Given the description of an element on the screen output the (x, y) to click on. 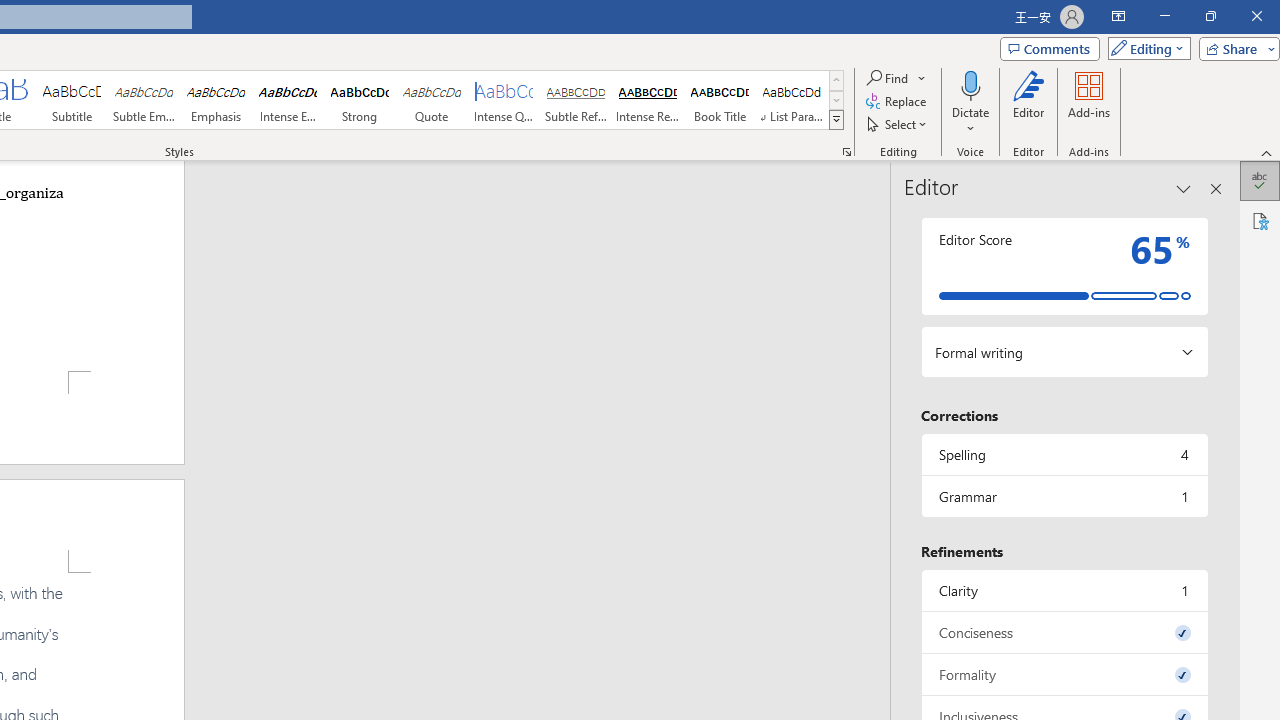
Conciseness, 0 issues. Press space or enter to review items. (1064, 632)
Editor Score 65% (1064, 266)
Quote (431, 100)
Grammar, 1 issue. Press space or enter to review items. (1064, 495)
Clarity, 1 issue. Press space or enter to review items. (1064, 590)
